Given the description of an element on the screen output the (x, y) to click on. 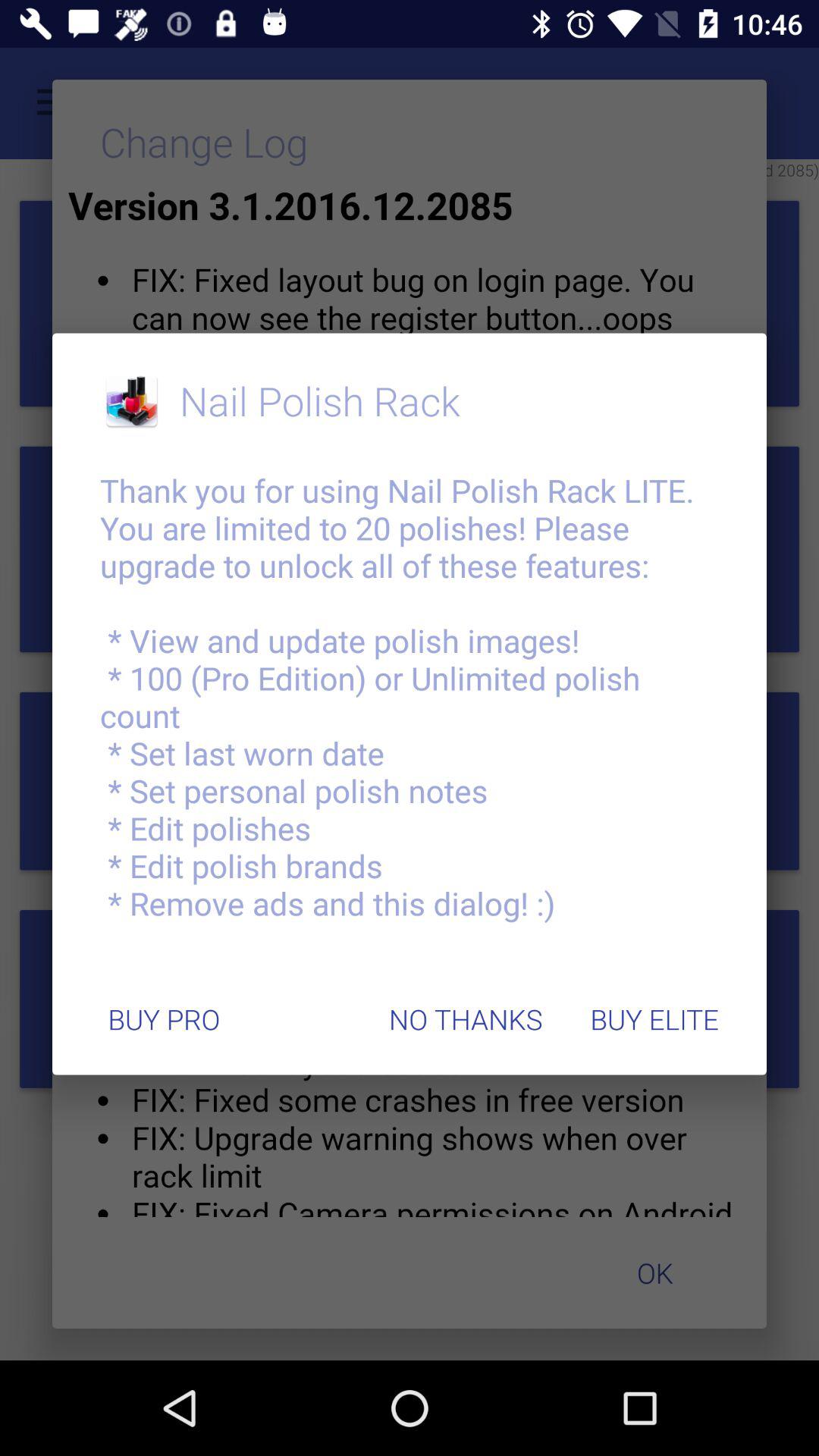
turn off the icon below thank you for item (163, 1018)
